Given the description of an element on the screen output the (x, y) to click on. 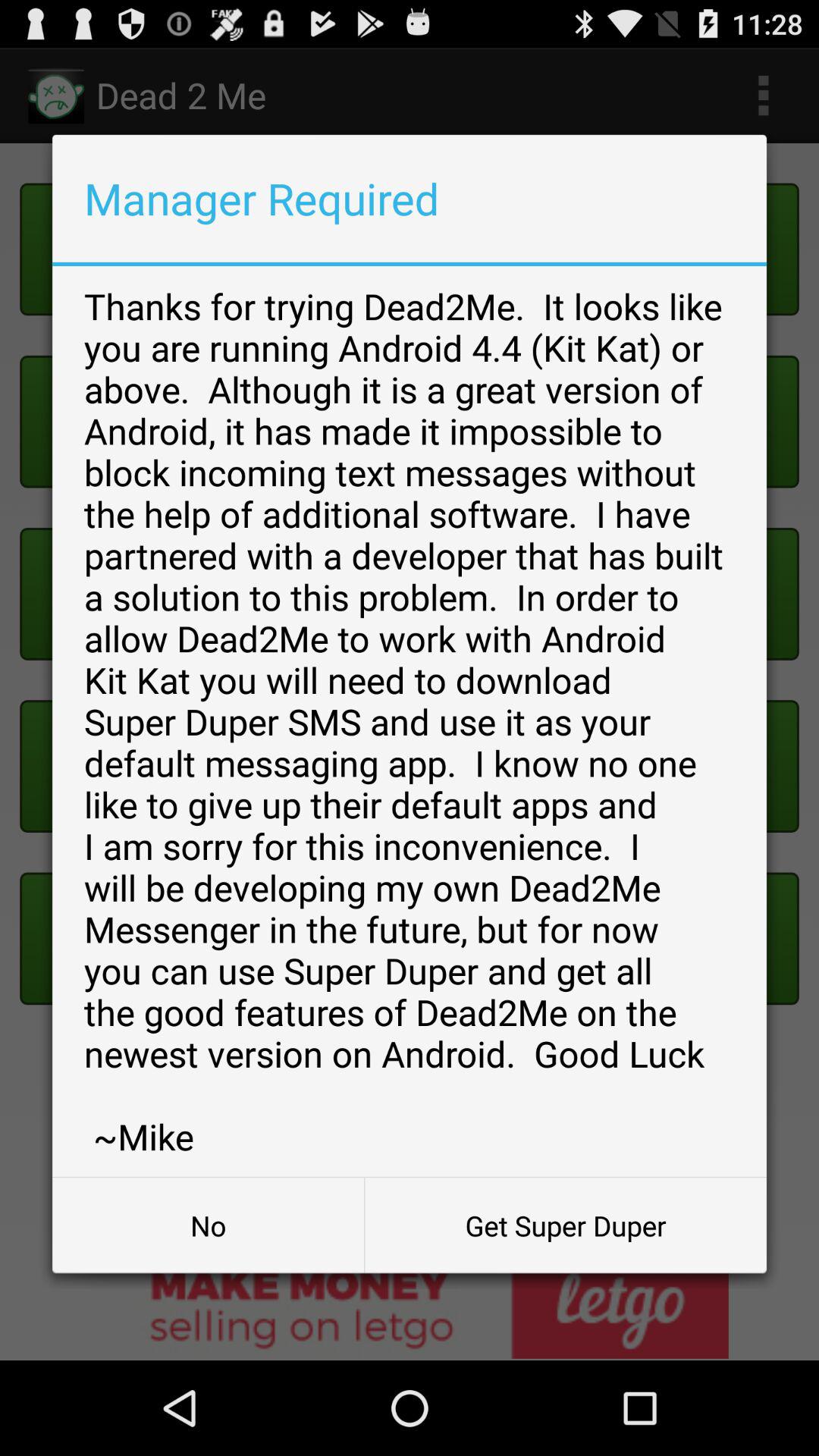
turn off icon at the bottom left corner (208, 1225)
